Given the description of an element on the screen output the (x, y) to click on. 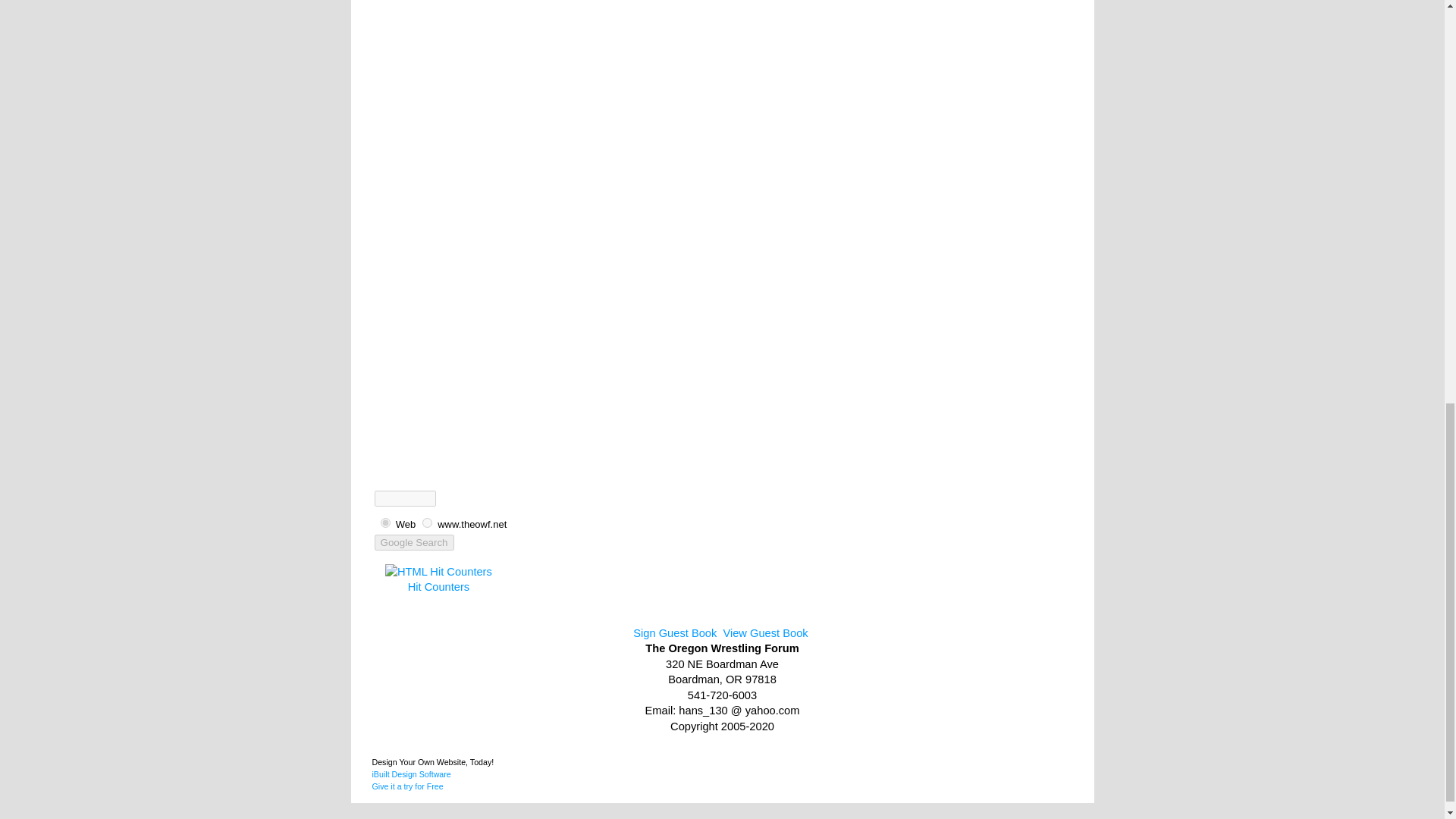
www.theowf.net (427, 522)
Google Search (414, 542)
Sign Guest Book (674, 633)
Hit Counters (410, 780)
Search www.theowf.net (437, 586)
Search the Web (472, 523)
Google Search (406, 523)
View Guest Book (414, 542)
